Given the description of an element on the screen output the (x, y) to click on. 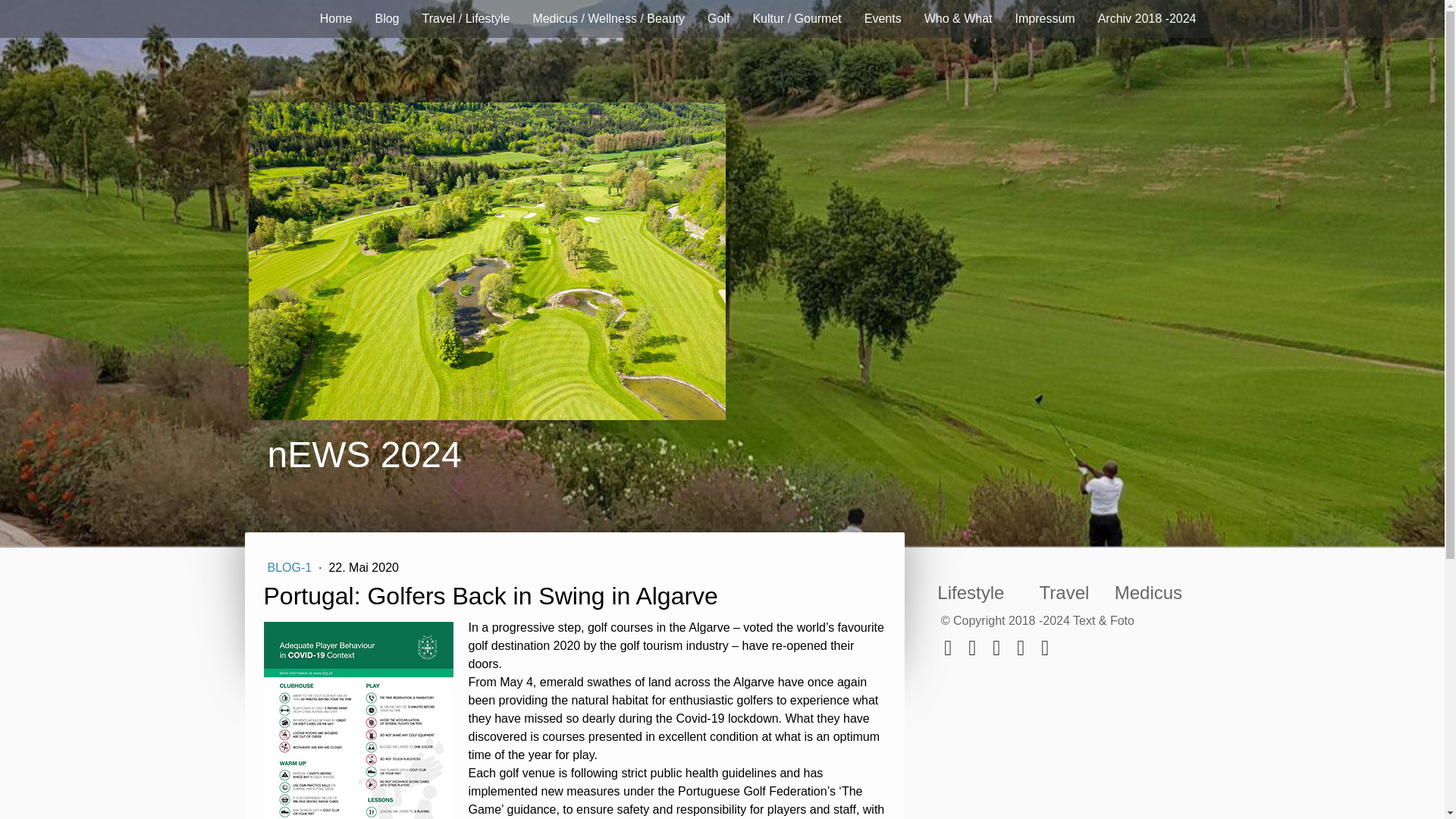
E-Mail (996, 648)
Blog (386, 18)
Home (336, 18)
Twitter (971, 648)
Facebook (947, 648)
VKontakte (1044, 648)
LinkedIn (1020, 648)
